Given the description of an element on the screen output the (x, y) to click on. 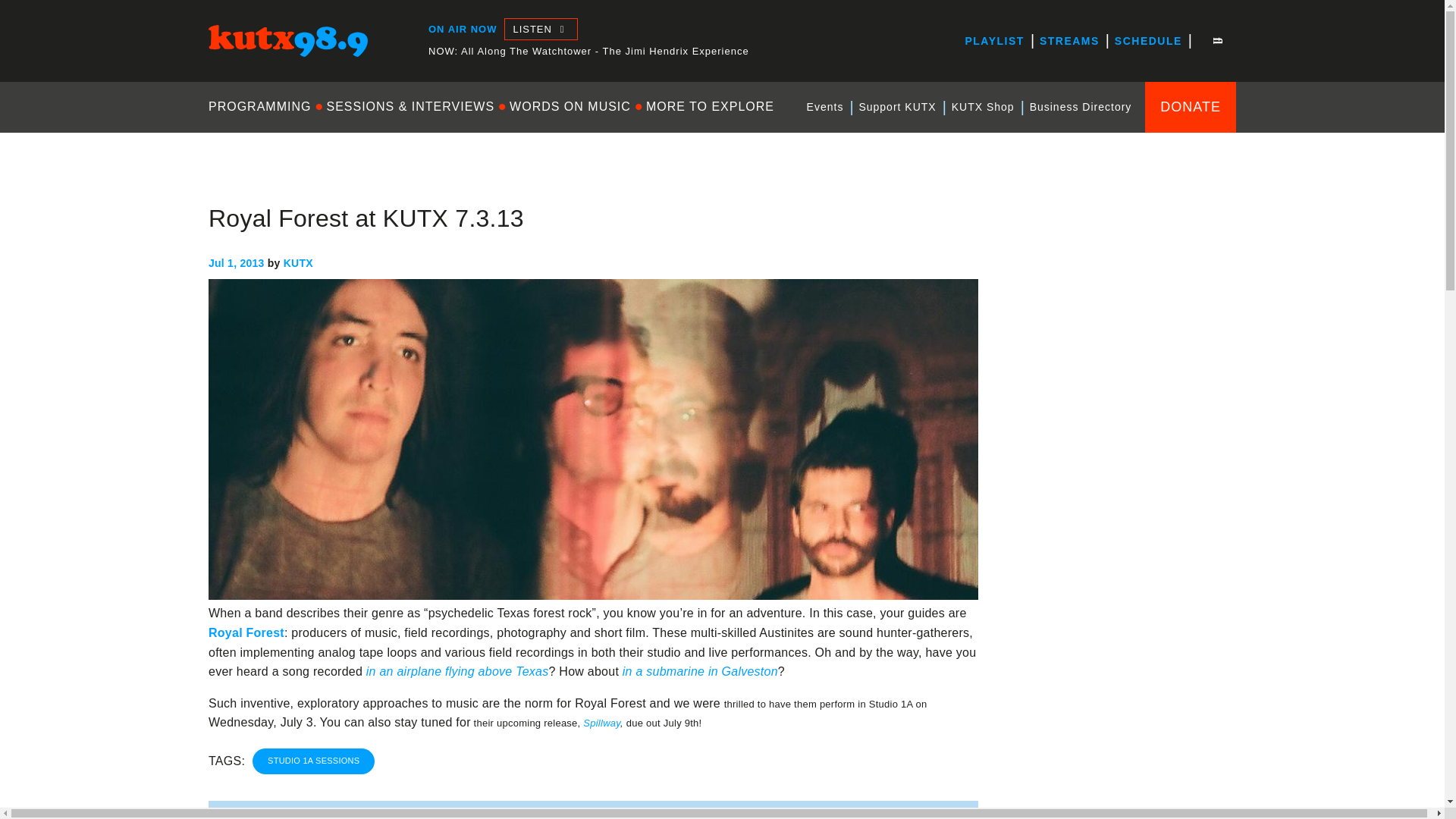
KUTX (224, 69)
PLAYLIST (993, 40)
LISTEN (539, 29)
3rd party ad content (1122, 292)
3rd party ad content (1122, 497)
PROGRAMMING (263, 106)
Events (825, 106)
MORE TO EXPLORE (710, 106)
STREAMS (1069, 40)
DONATE (1190, 106)
KUTX Shop (982, 106)
SCHEDULE (1147, 40)
WORDS ON MUSIC (570, 106)
Business Directory (1081, 106)
Support KUTX (896, 106)
